Given the description of an element on the screen output the (x, y) to click on. 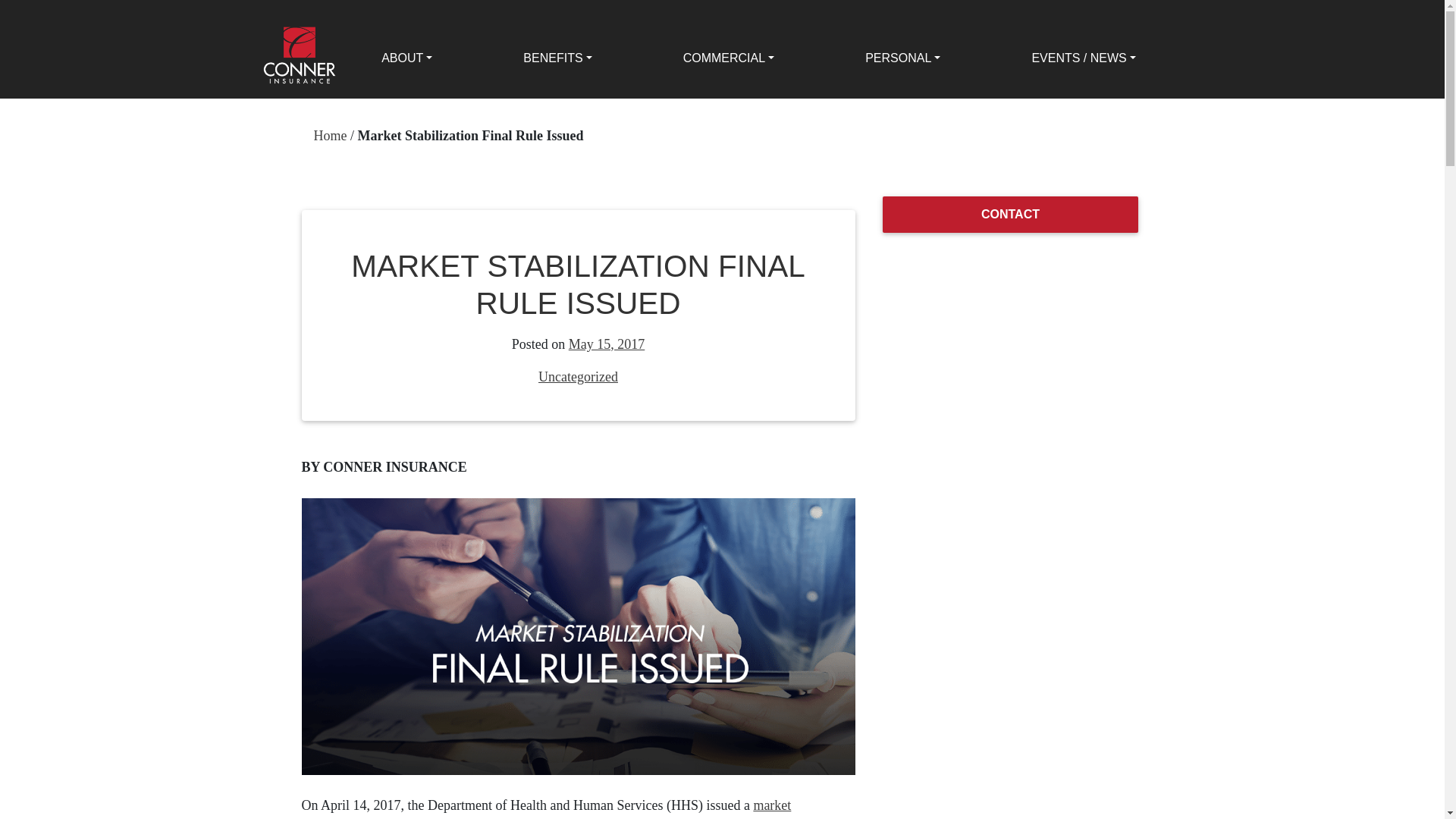
COMMERCIAL (729, 58)
ABOUT (406, 58)
PERSONAL (902, 58)
BENEFITS (557, 58)
